Given the description of an element on the screen output the (x, y) to click on. 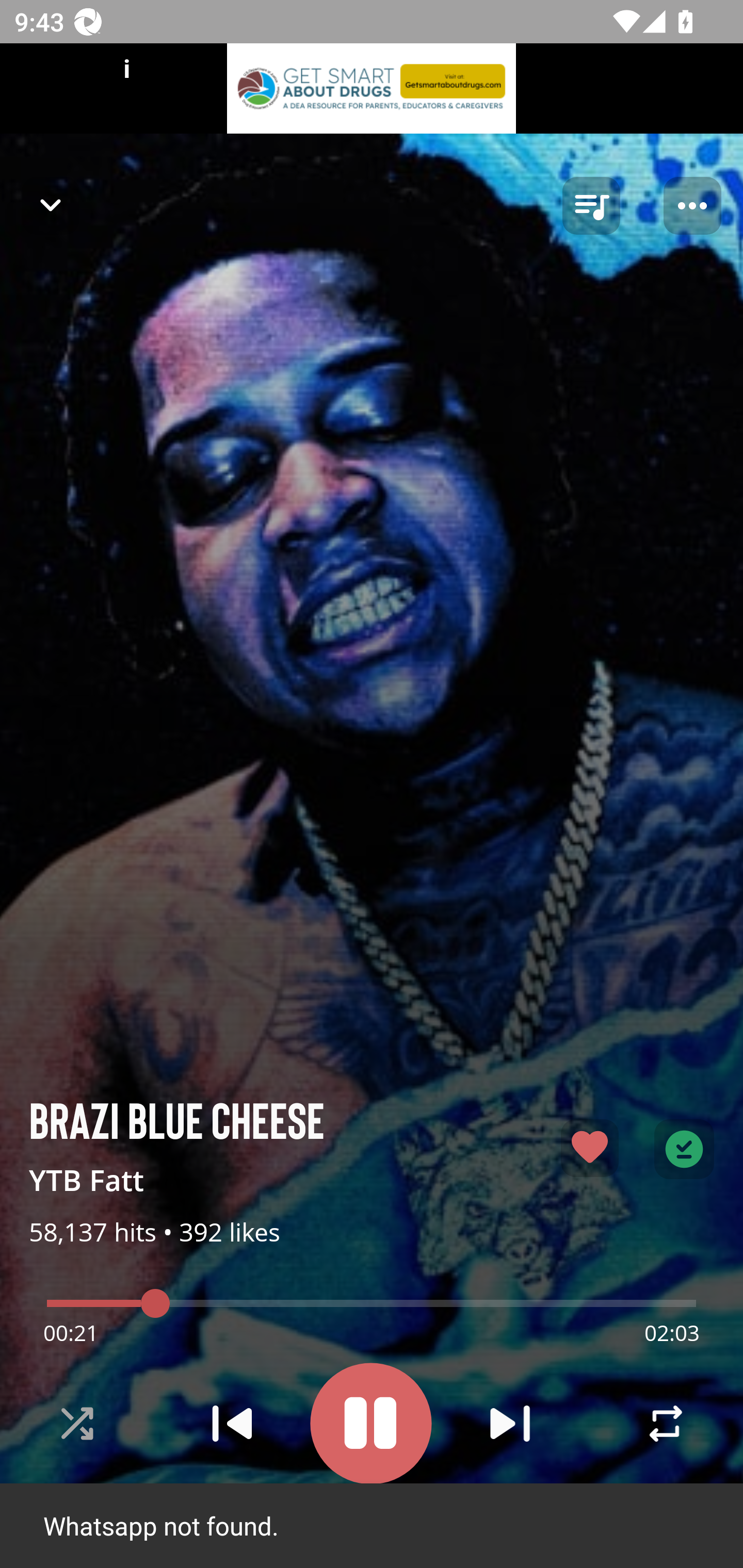
Navigate up (50, 205)
queue (590, 206)
Player options (692, 206)
